Given the description of an element on the screen output the (x, y) to click on. 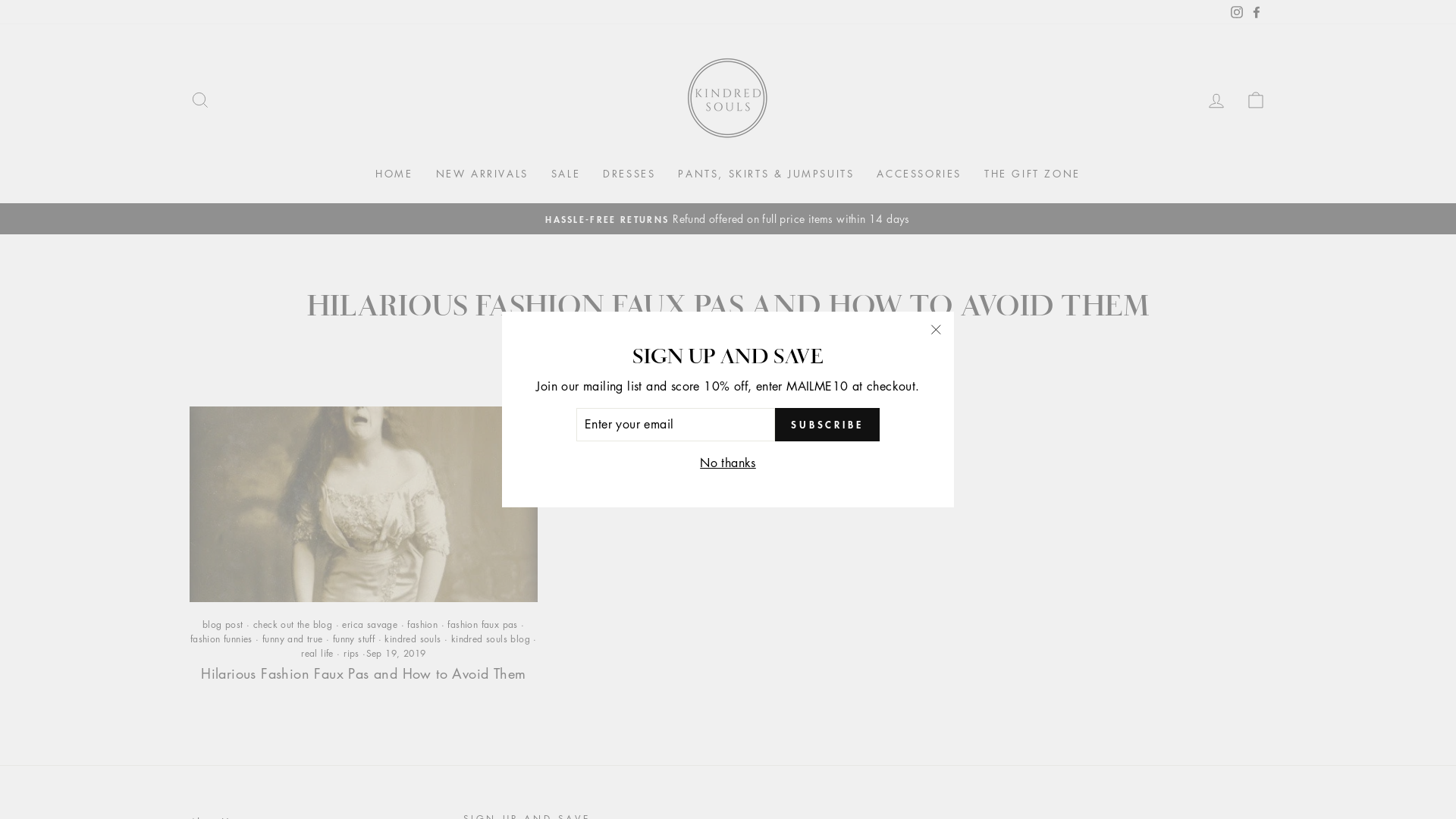
funny stuff Element type: text (353, 638)
kindred souls blog Element type: text (490, 638)
fashion faux pas Element type: text (482, 624)
THE GIFT ZONE Element type: text (1032, 174)
rips Element type: text (351, 652)
No thanks Element type: text (727, 462)
PANTS, SKIRTS & JUMPSUITS Element type: text (765, 174)
HOME Element type: text (393, 174)
Instagram Element type: text (1236, 12)
fashion Element type: text (422, 624)
kindred souls Element type: text (412, 638)
SALE Element type: text (565, 174)
ACCESSORIES Element type: text (918, 174)
Facebook Element type: text (1256, 12)
Hilarious Fashion Faux Pas and How to Avoid Them Element type: text (362, 673)
NEW ARRIVALS Element type: text (481, 174)
Skip to content Element type: text (0, 0)
LOG IN Element type: text (1216, 99)
check out the blog Element type: text (292, 624)
erica savage Element type: text (369, 624)
funny and true Element type: text (292, 638)
SUBSCRIBE Element type: text (827, 424)
real life Element type: text (317, 652)
"Close (esc)" Element type: text (935, 329)
fashion funnies Element type: text (221, 638)
SEARCH Element type: text (199, 99)
DRESSES Element type: text (628, 174)
CART Element type: text (1255, 99)
blog post Element type: text (222, 624)
